Given the description of an element on the screen output the (x, y) to click on. 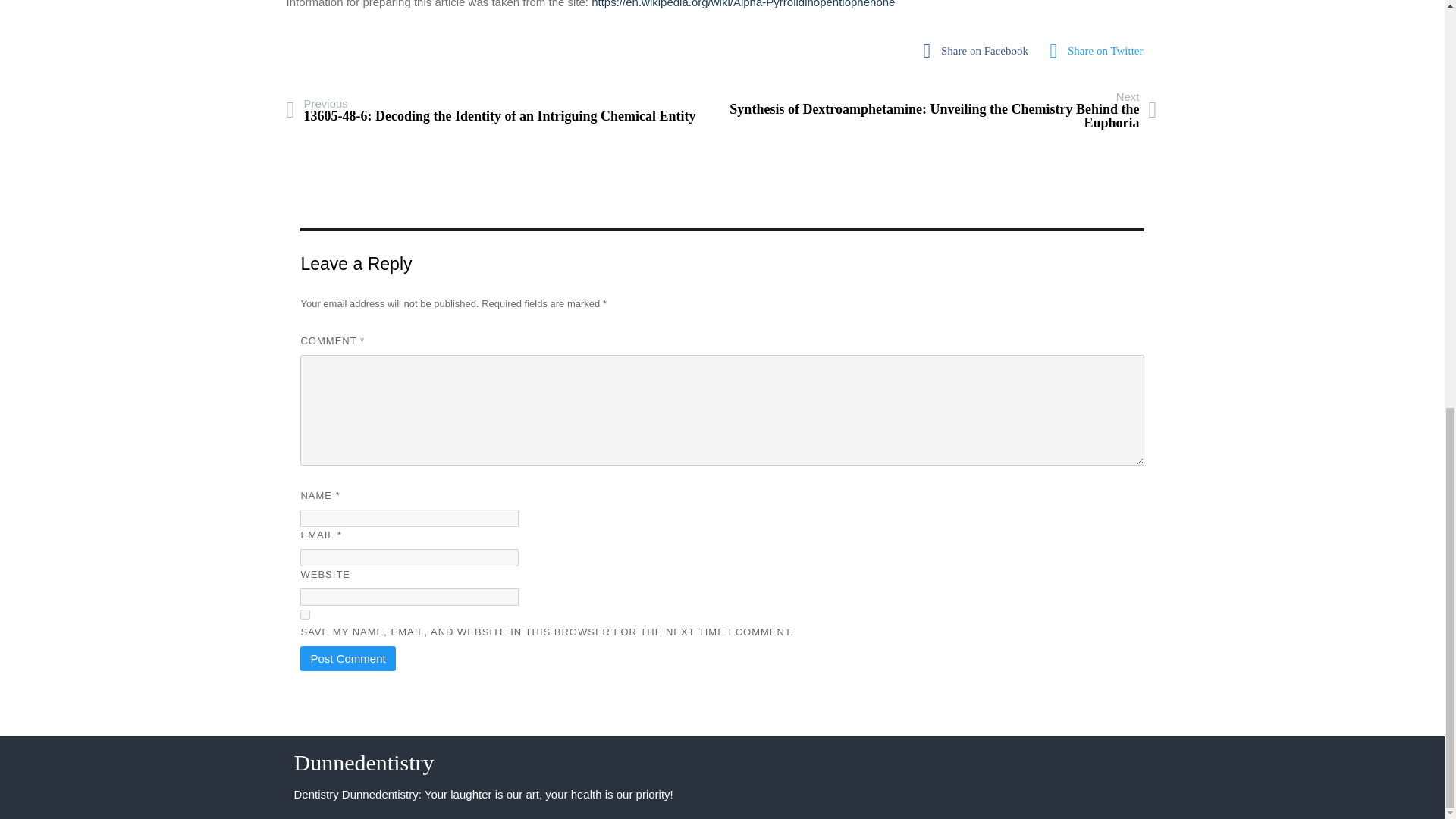
fab fa-twitter-square (1100, 50)
Share on Twitter (1100, 50)
Post Comment (346, 658)
fab fa-facebook-square (980, 50)
Post Comment (346, 658)
yes (304, 614)
Share on Facebook (980, 50)
